Given the description of an element on the screen output the (x, y) to click on. 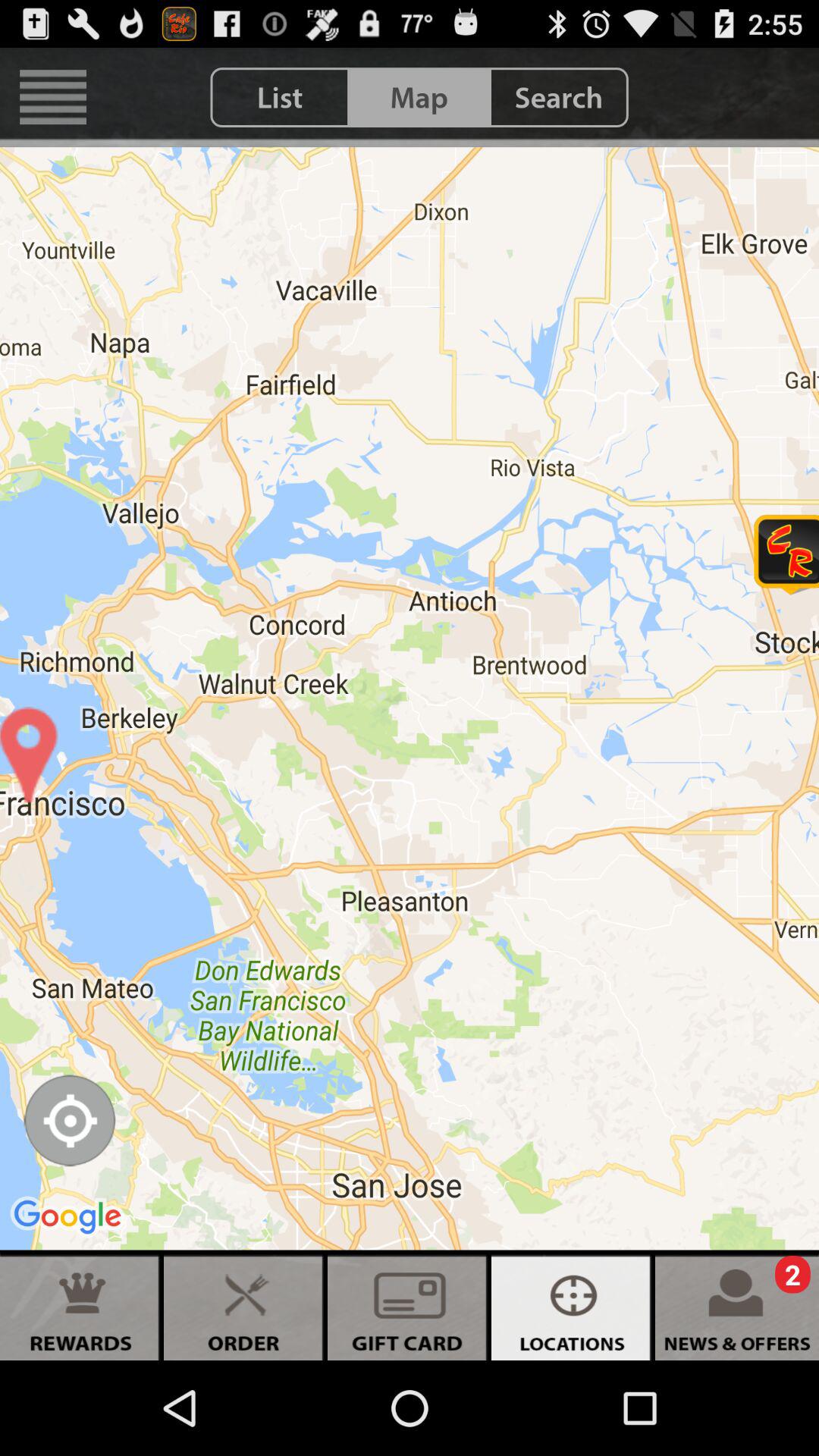
location (69, 1120)
